Given the description of an element on the screen output the (x, y) to click on. 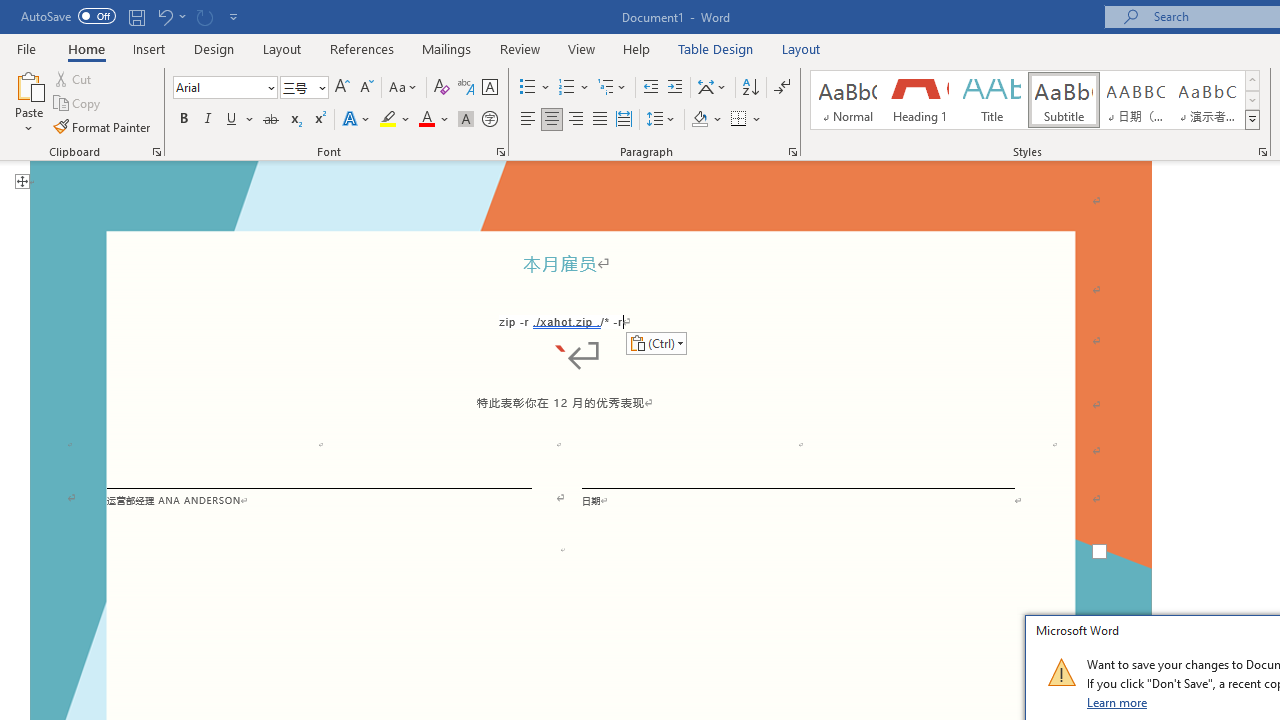
Learn more (1118, 702)
Can't Repeat (204, 15)
